Given the description of an element on the screen output the (x, y) to click on. 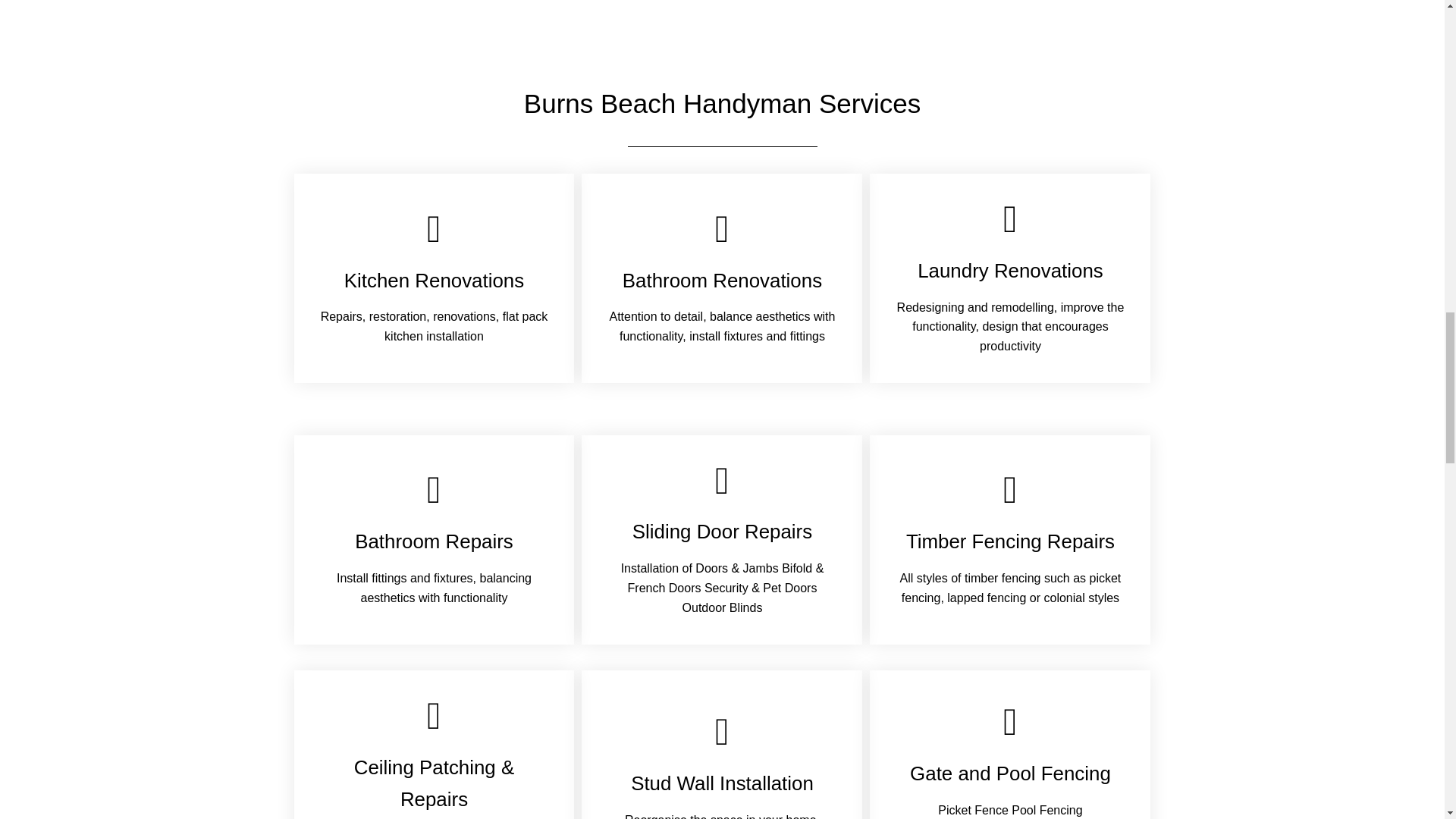
Stud Wall Installation (721, 783)
Laundry Renovations (1010, 270)
Bathroom Renovations (722, 280)
Kitchen Renovations (433, 280)
Bathroom Repairs (434, 541)
Sliding Door Repairs (721, 531)
Gate and Pool Fencing (1010, 772)
Timber Fencing Repairs (1010, 541)
